Given the description of an element on the screen output the (x, y) to click on. 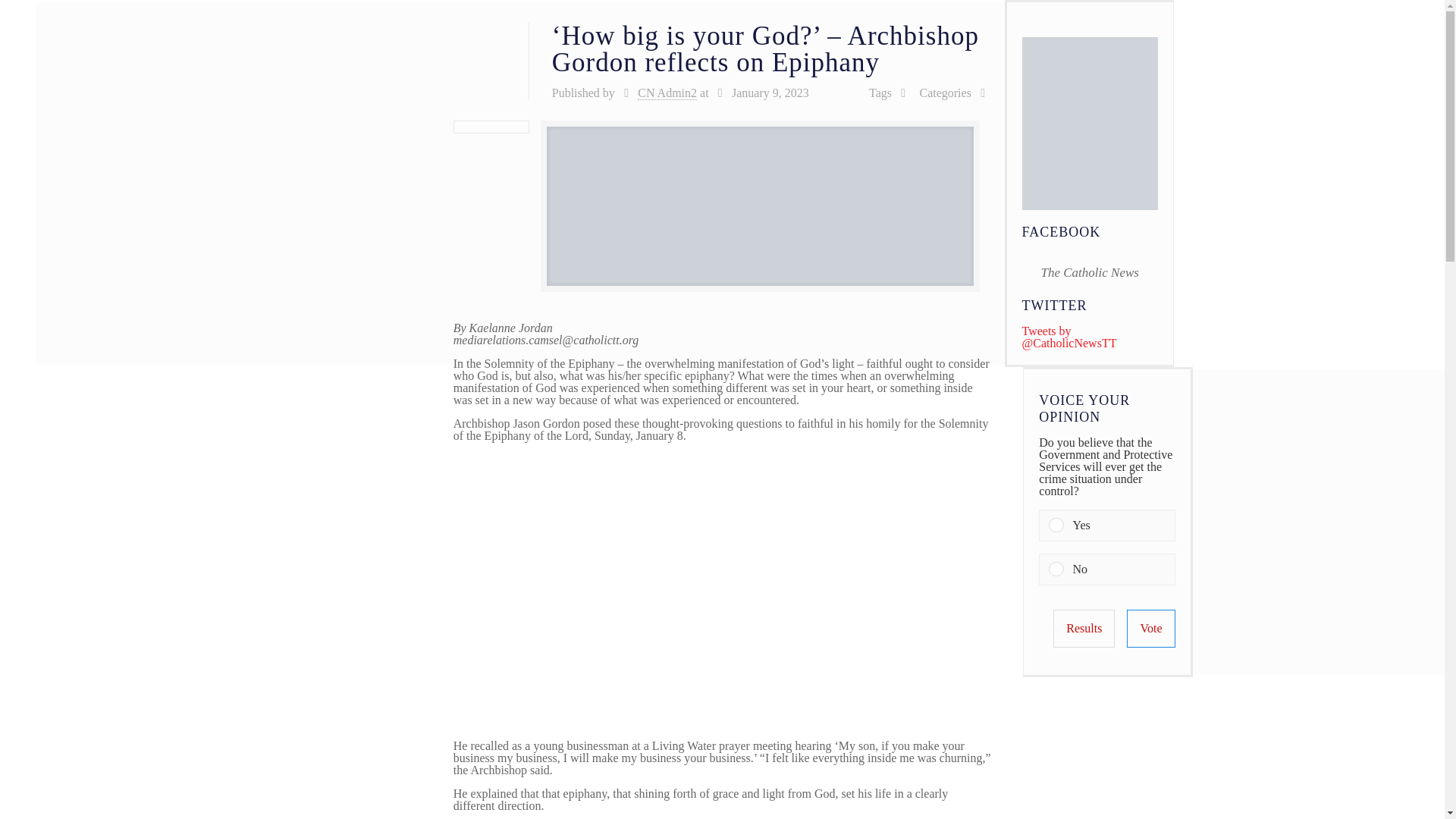
Homily -The Epiphany of The Lord - Sunday 8th January 2023 (695, 589)
